Given the description of an element on the screen output the (x, y) to click on. 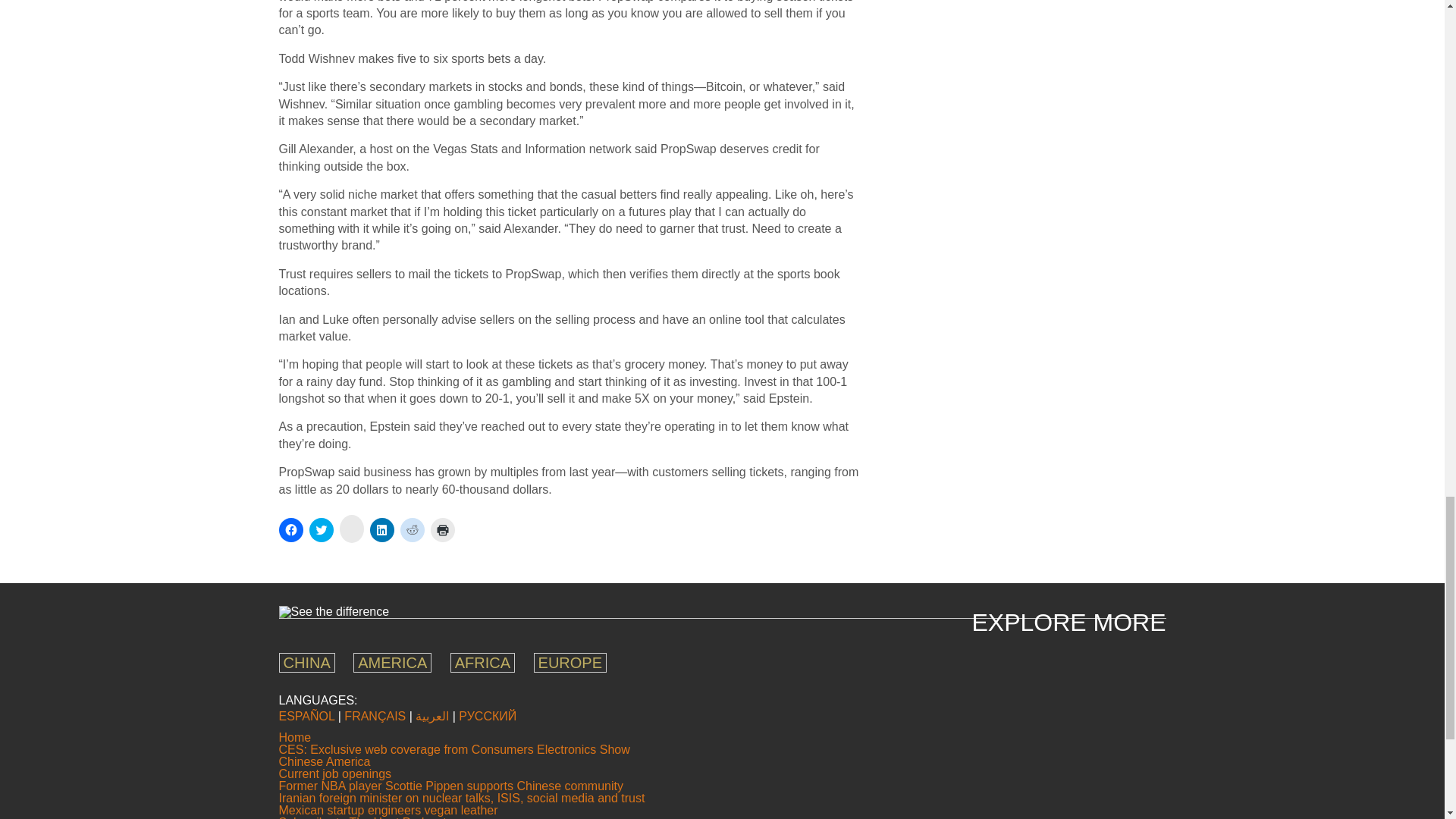
Click to share on Facebook (290, 529)
Click to share on Twitter (320, 529)
Click to share on LinkedIn (381, 529)
Click to share on Reddit (412, 529)
